Given the description of an element on the screen output the (x, y) to click on. 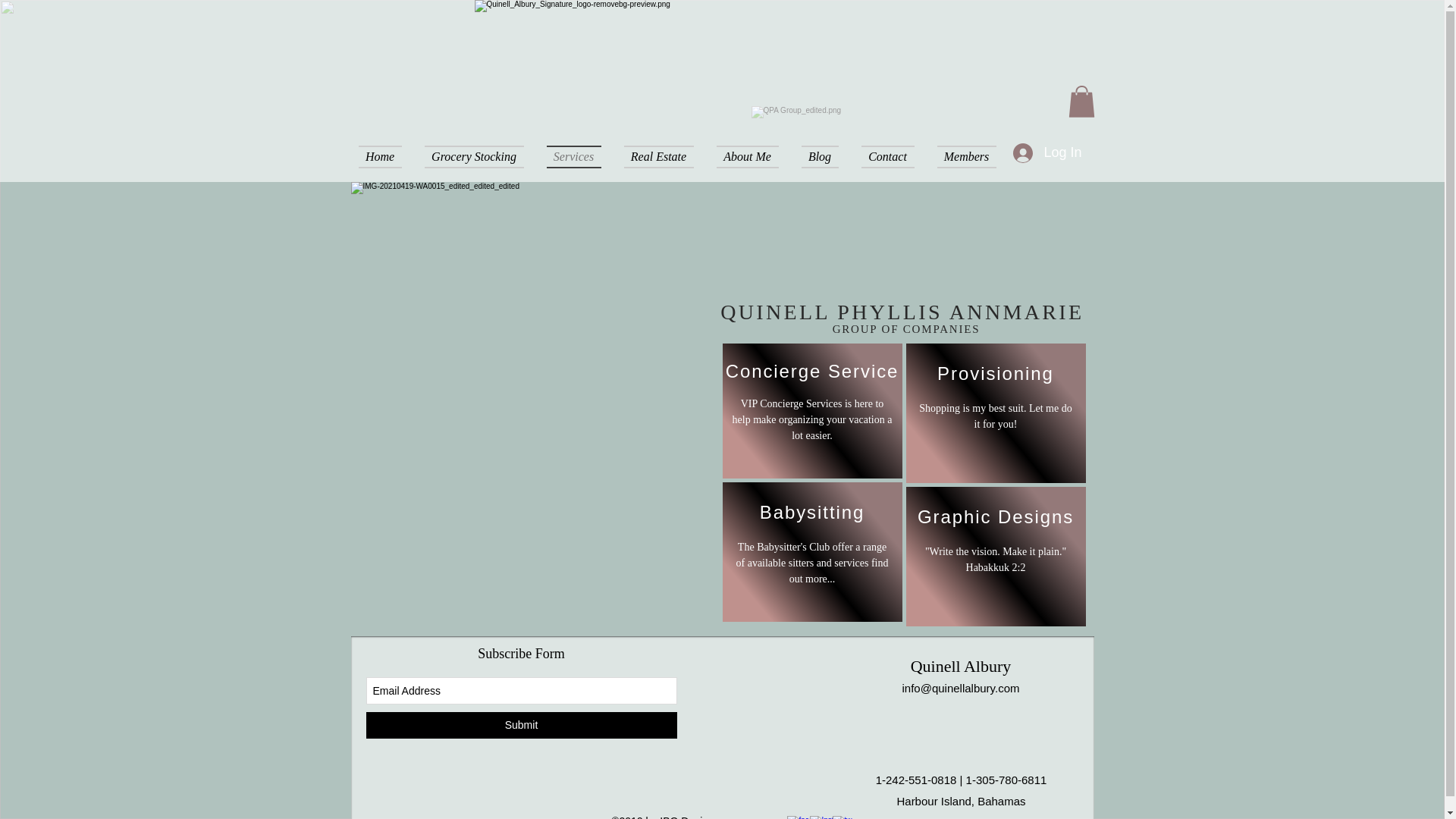
Contact (886, 156)
Blog (820, 156)
About Me (747, 156)
Submit (521, 724)
Grocery Stocking (473, 156)
Members (959, 156)
Home (385, 156)
Log In (1047, 152)
Real Estate (658, 156)
Services (573, 156)
Quinell Albury (961, 665)
